Given the description of an element on the screen output the (x, y) to click on. 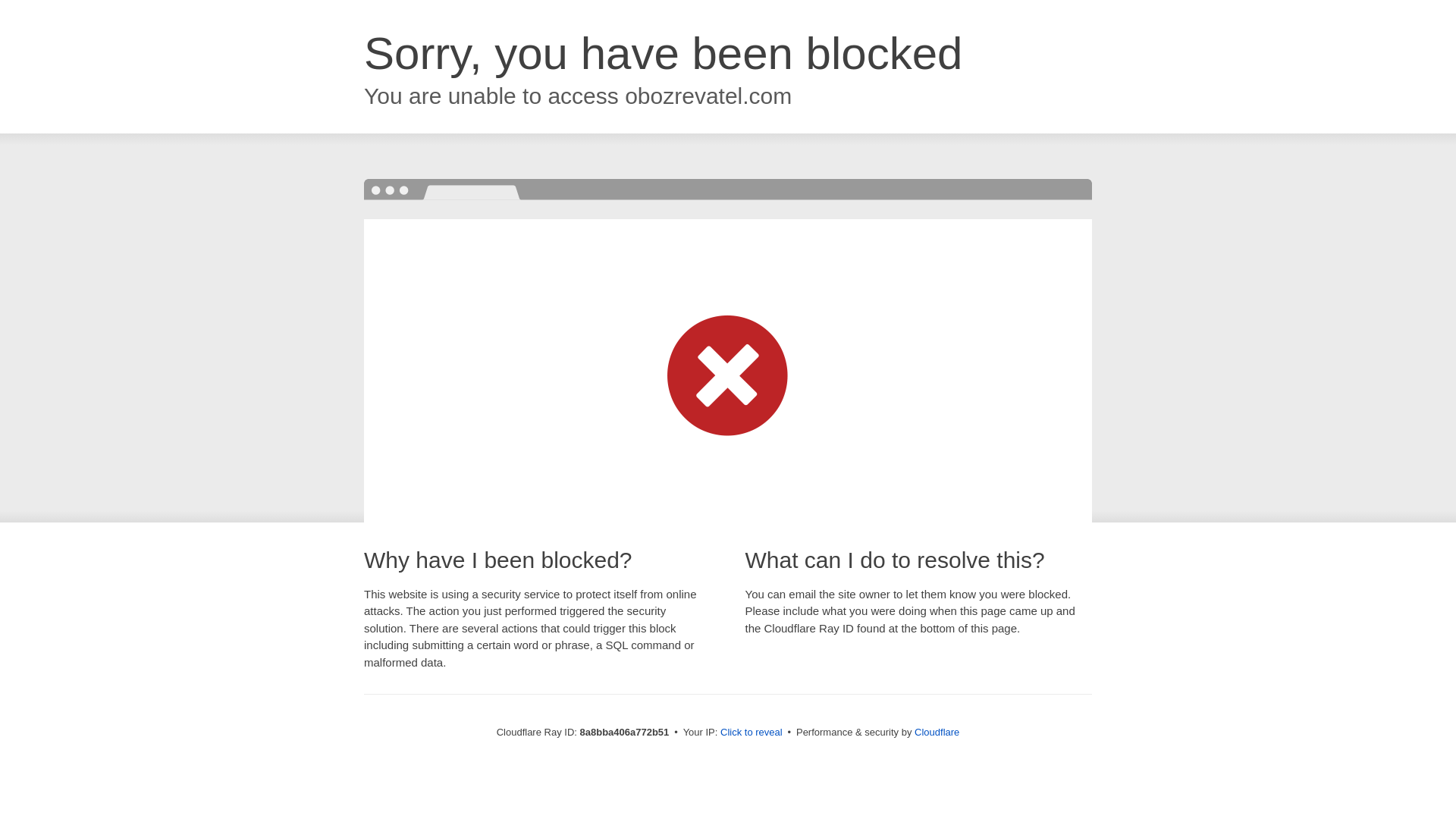
Click to reveal (751, 732)
Cloudflare (936, 731)
